Given the description of an element on the screen output the (x, y) to click on. 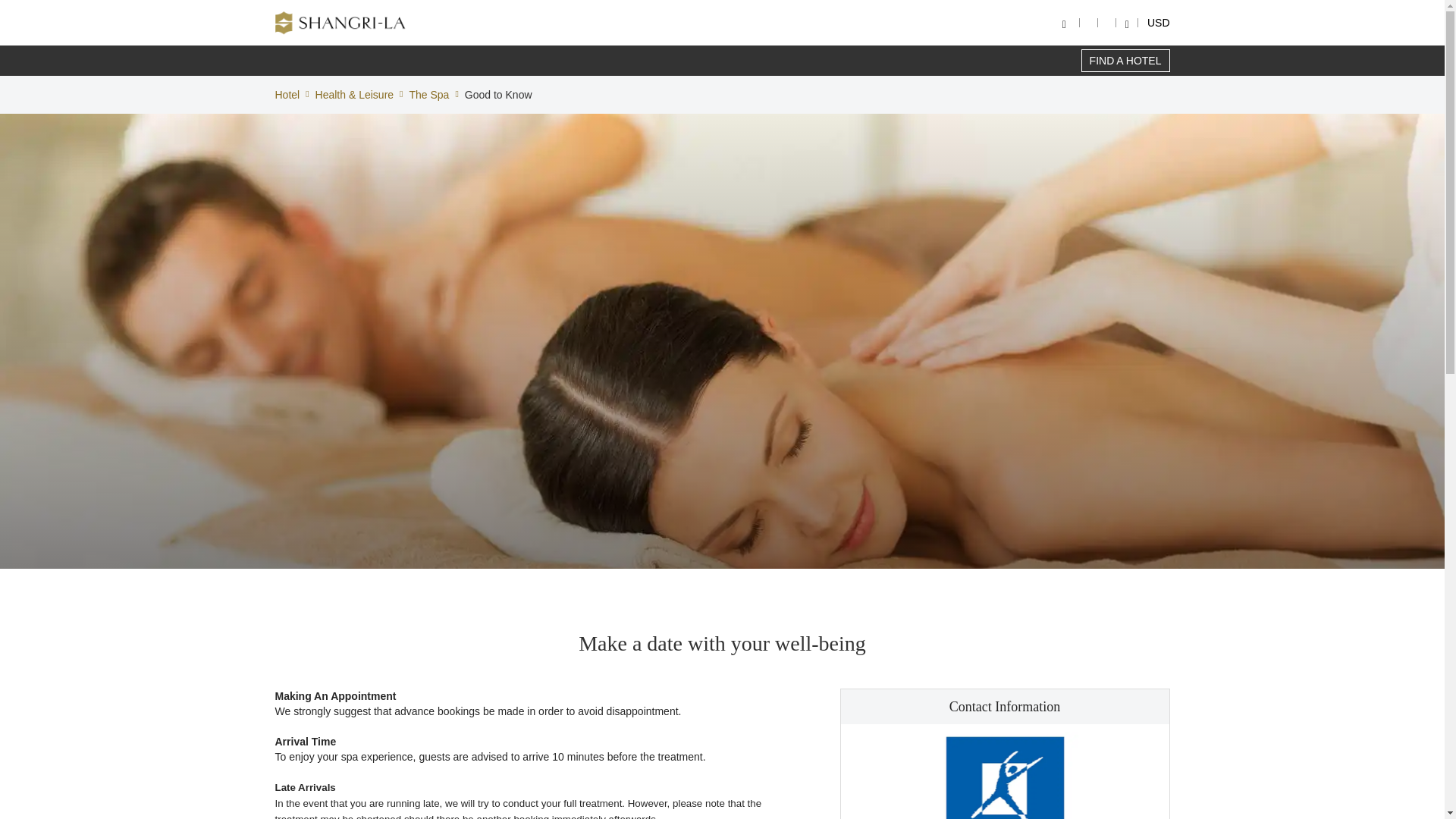
FIND A HOTEL (1125, 60)
Hotel (287, 94)
The Spa (428, 94)
